Given the description of an element on the screen output the (x, y) to click on. 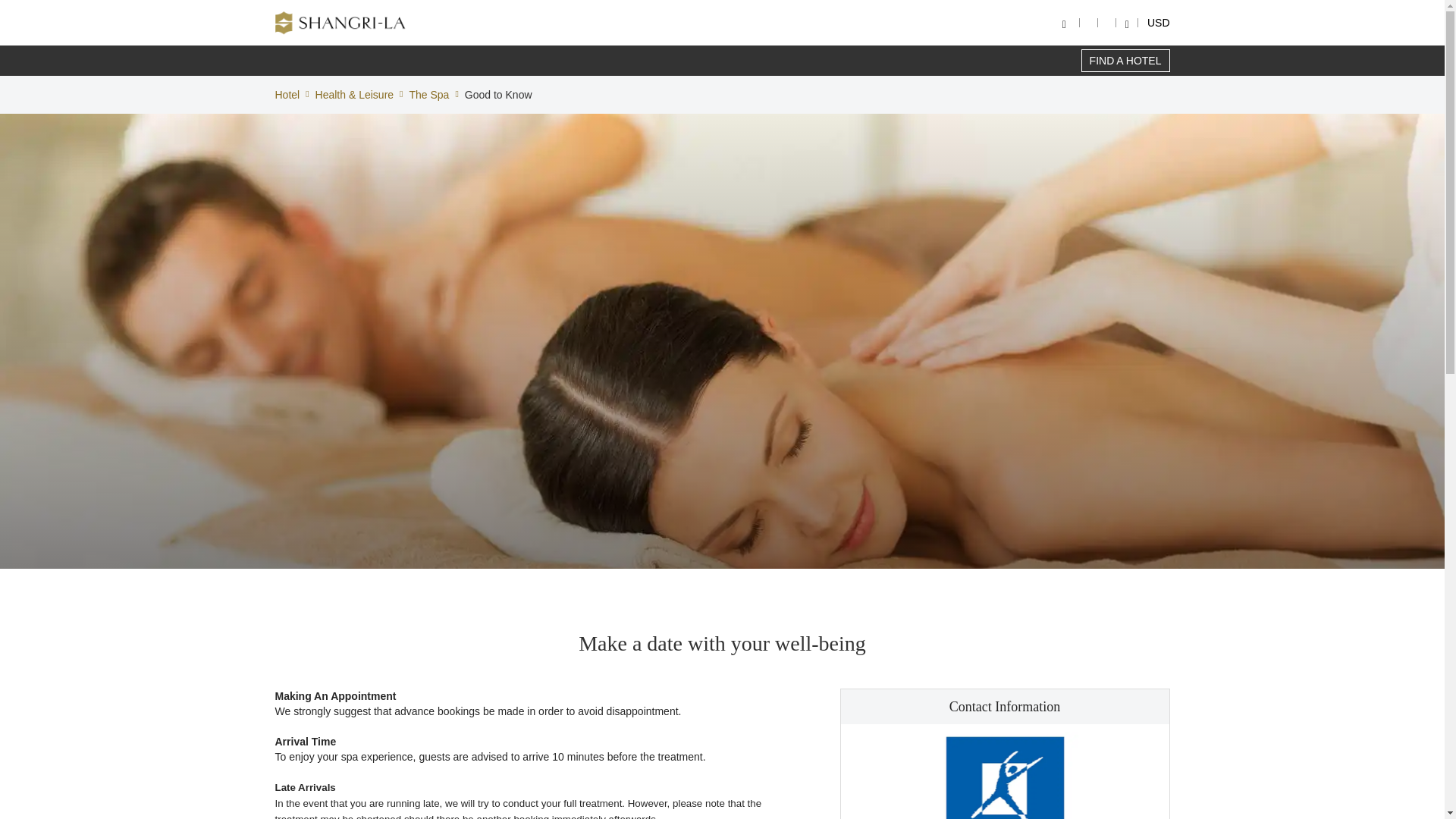
FIND A HOTEL (1125, 60)
Hotel (287, 94)
The Spa (428, 94)
